Given the description of an element on the screen output the (x, y) to click on. 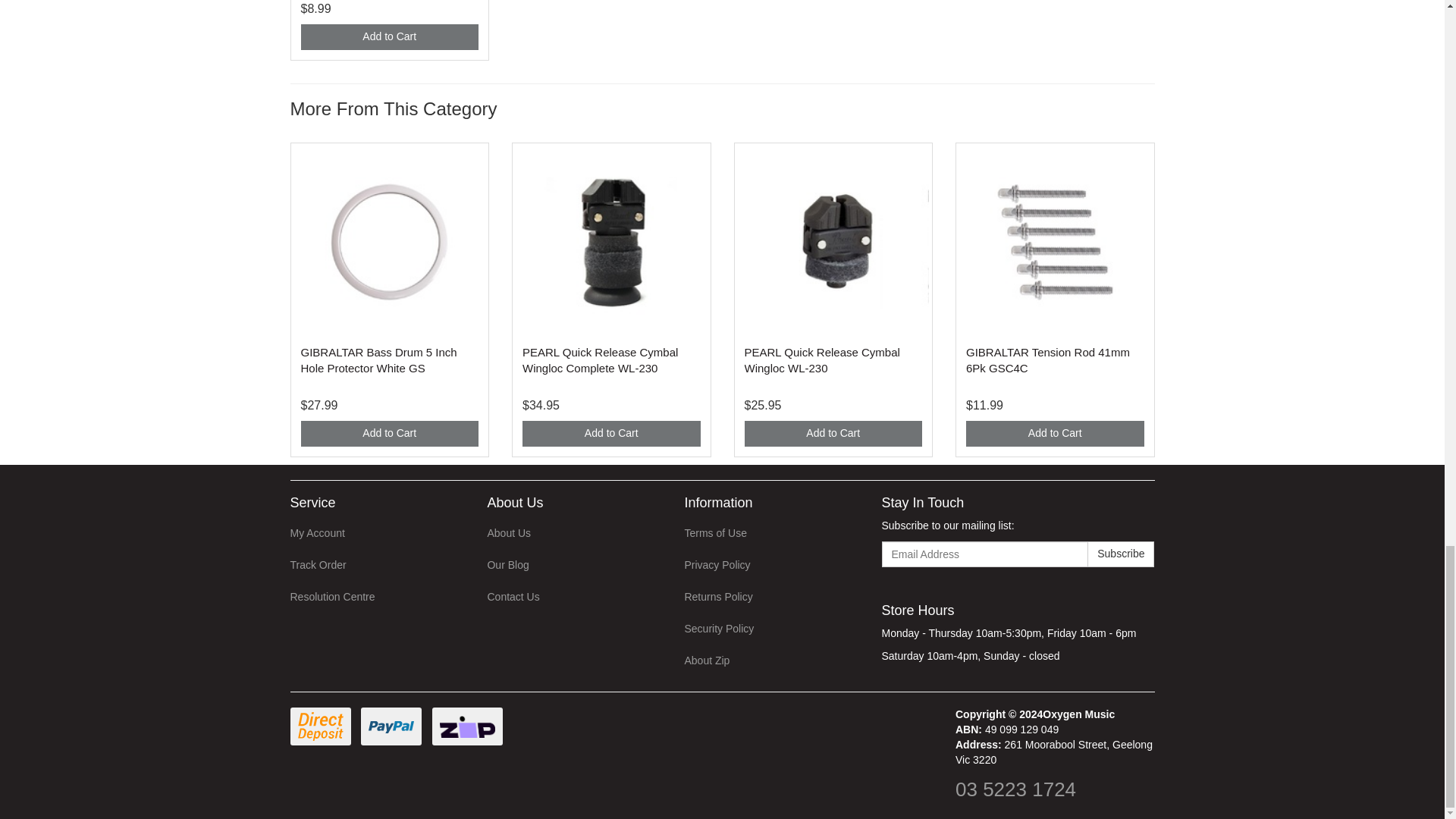
PEARL Quick Release Cymbal Wingloc WL-230 (821, 359)
Add to Cart (1055, 433)
Subscribe (1120, 554)
Add to Cart (611, 433)
GIBRALTAR Tension Rod 41mm 6Pk GSC4C (1047, 359)
Add to Cart (833, 433)
PEARL Quick Release Cymbal Wingloc Complete WL-230A (600, 359)
Add to Cart (389, 433)
Add to Cart (389, 36)
GIBRALTAR Bass Drum 5 Inch Hole Protector White GSCGPHP5W (378, 359)
